Given the description of an element on the screen output the (x, y) to click on. 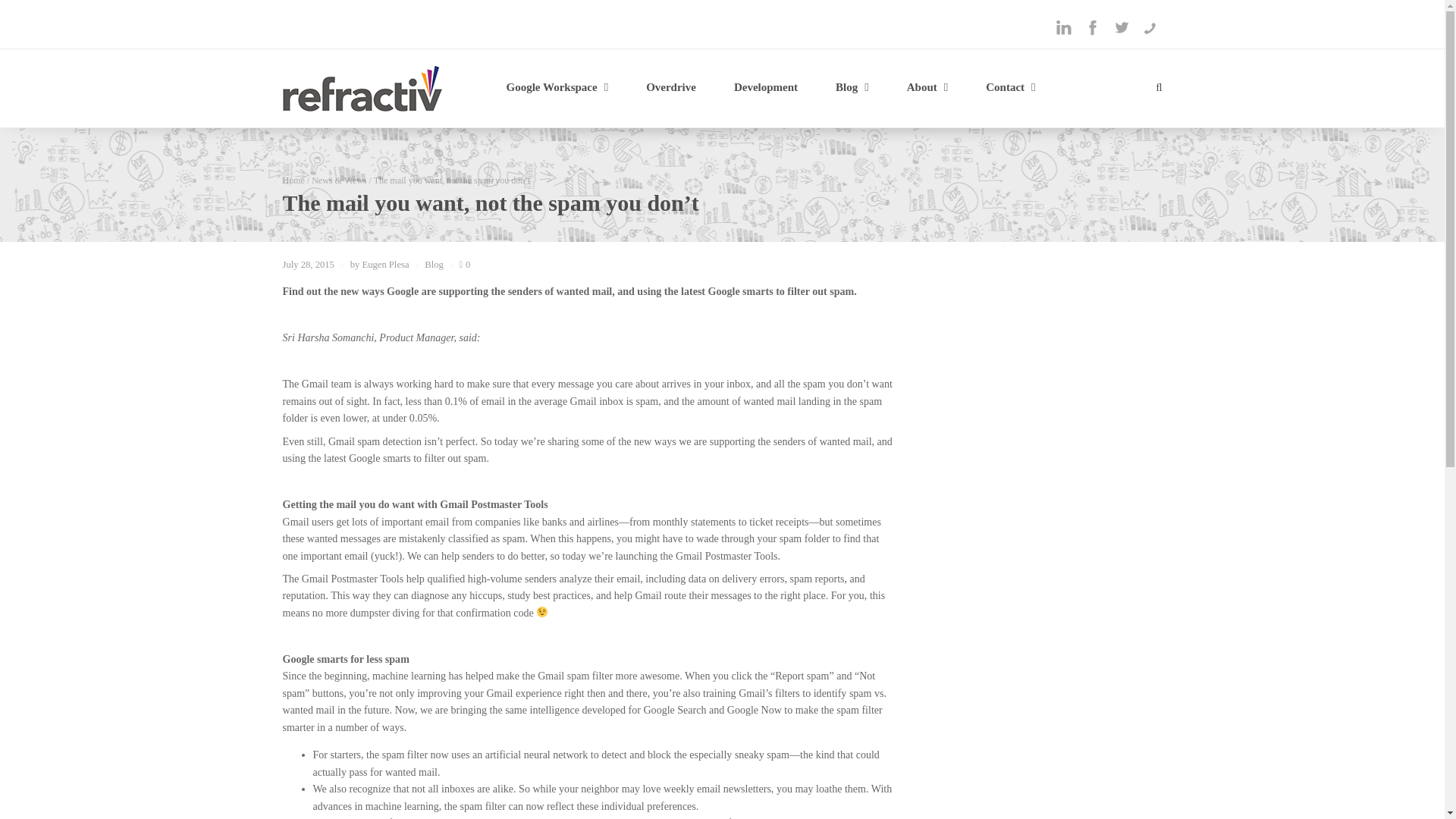
LinkedIn (1063, 27)
Overdrive (670, 88)
Contact (1010, 88)
Google Workspace (556, 88)
Development (765, 88)
Facebook (1091, 27)
Twitter (1120, 27)
Blog (852, 88)
About (928, 88)
Yahoo (1149, 27)
Posts by Eugen Plesa (385, 264)
